Given the description of an element on the screen output the (x, y) to click on. 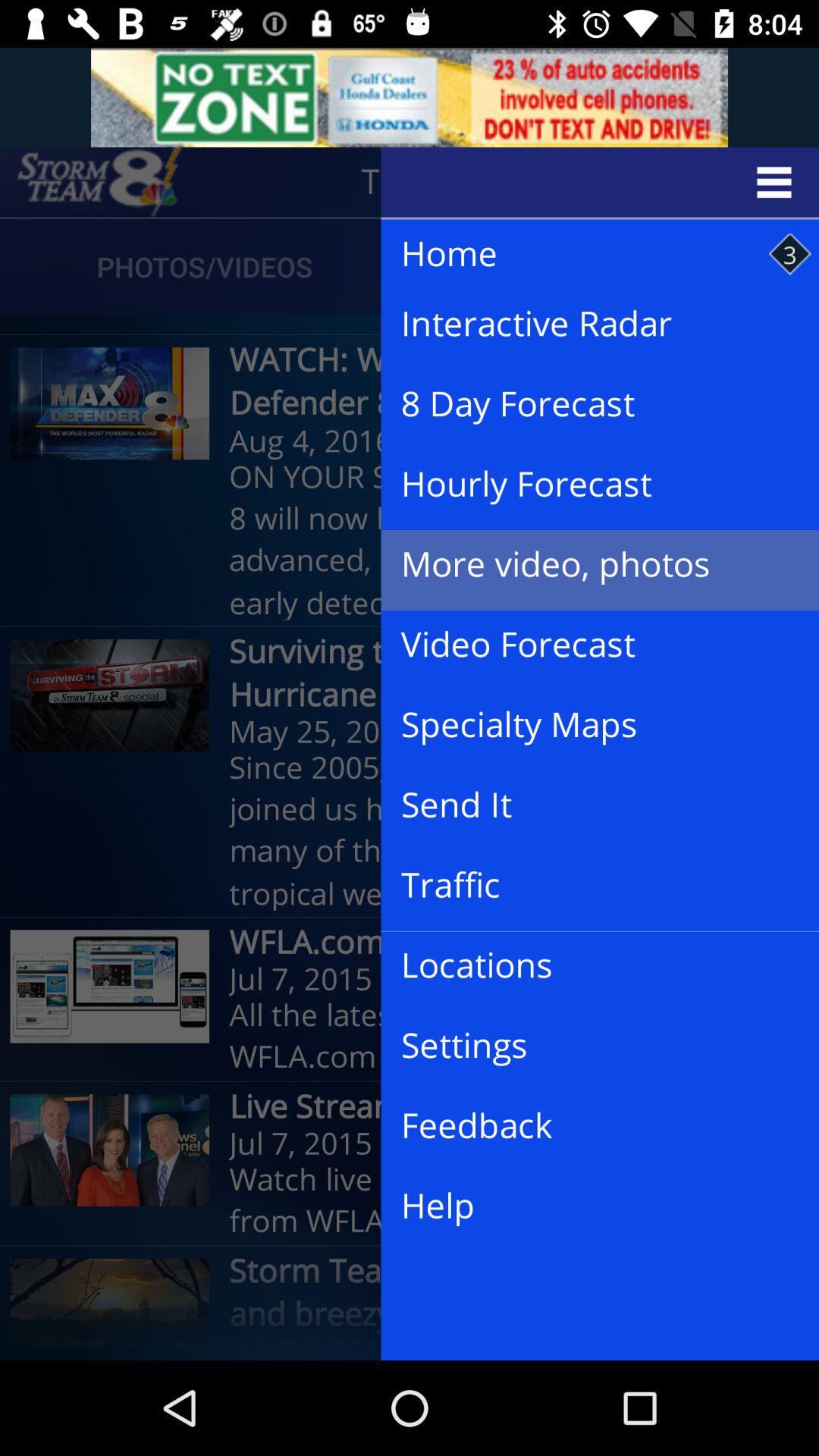
turn on icon above storm team 8 (587, 1206)
